Given the description of an element on the screen output the (x, y) to click on. 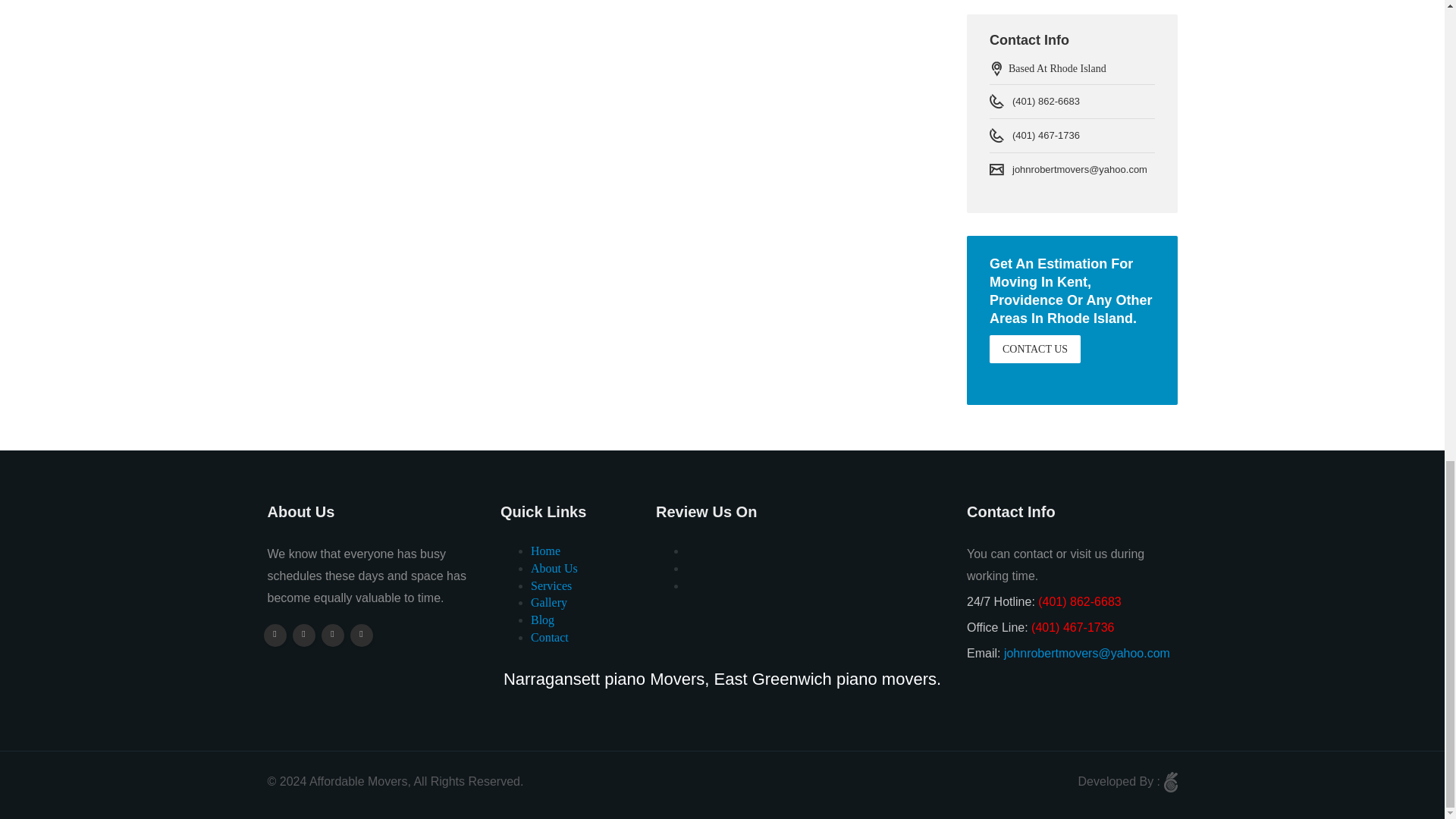
Home (545, 550)
Gallery (549, 602)
About Us (554, 567)
CONTACT US (1035, 348)
Services (551, 585)
